Given the description of an element on the screen output the (x, y) to click on. 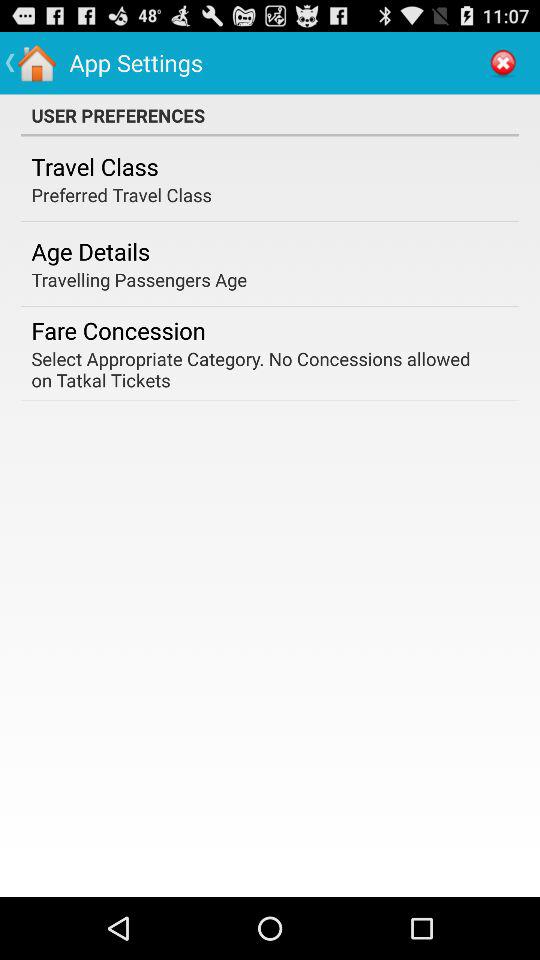
choose item above the fare concession item (139, 279)
